Given the description of an element on the screen output the (x, y) to click on. 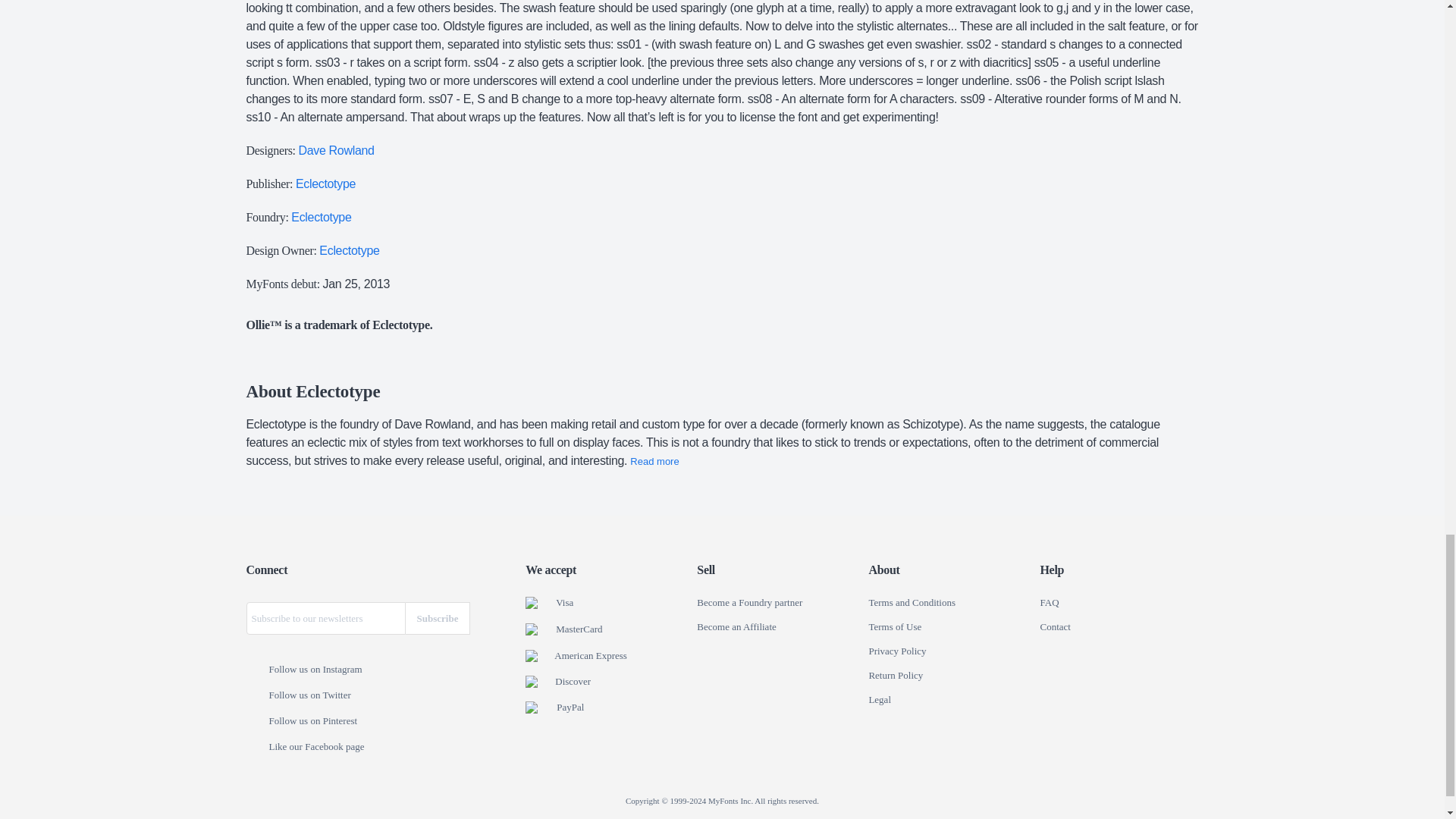
Follow us on Instagram (256, 670)
Become a Foundry partner (749, 603)
Follow us on Twitter (256, 695)
Join our affiliate program (736, 626)
Follow us on Pinterest (256, 721)
Like our Facebook page (256, 747)
Please fill out this field (325, 617)
